Given the description of an element on the screen output the (x, y) to click on. 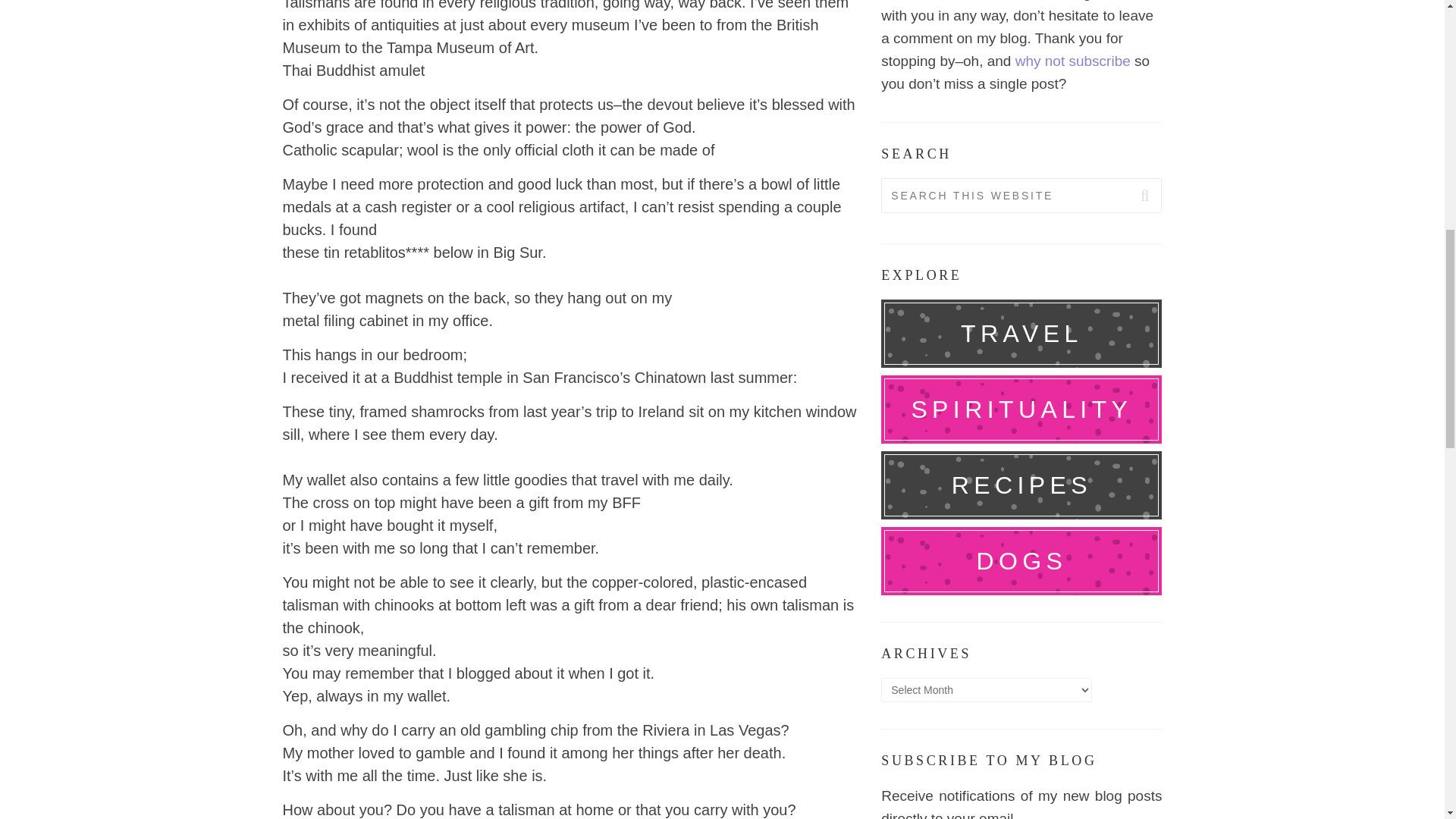
why not subscribe (1072, 60)
DOGS (1020, 561)
RECIPES (1020, 485)
SPIRITUALITY (1020, 409)
TRAVEL (1020, 333)
